Given the description of an element on the screen output the (x, y) to click on. 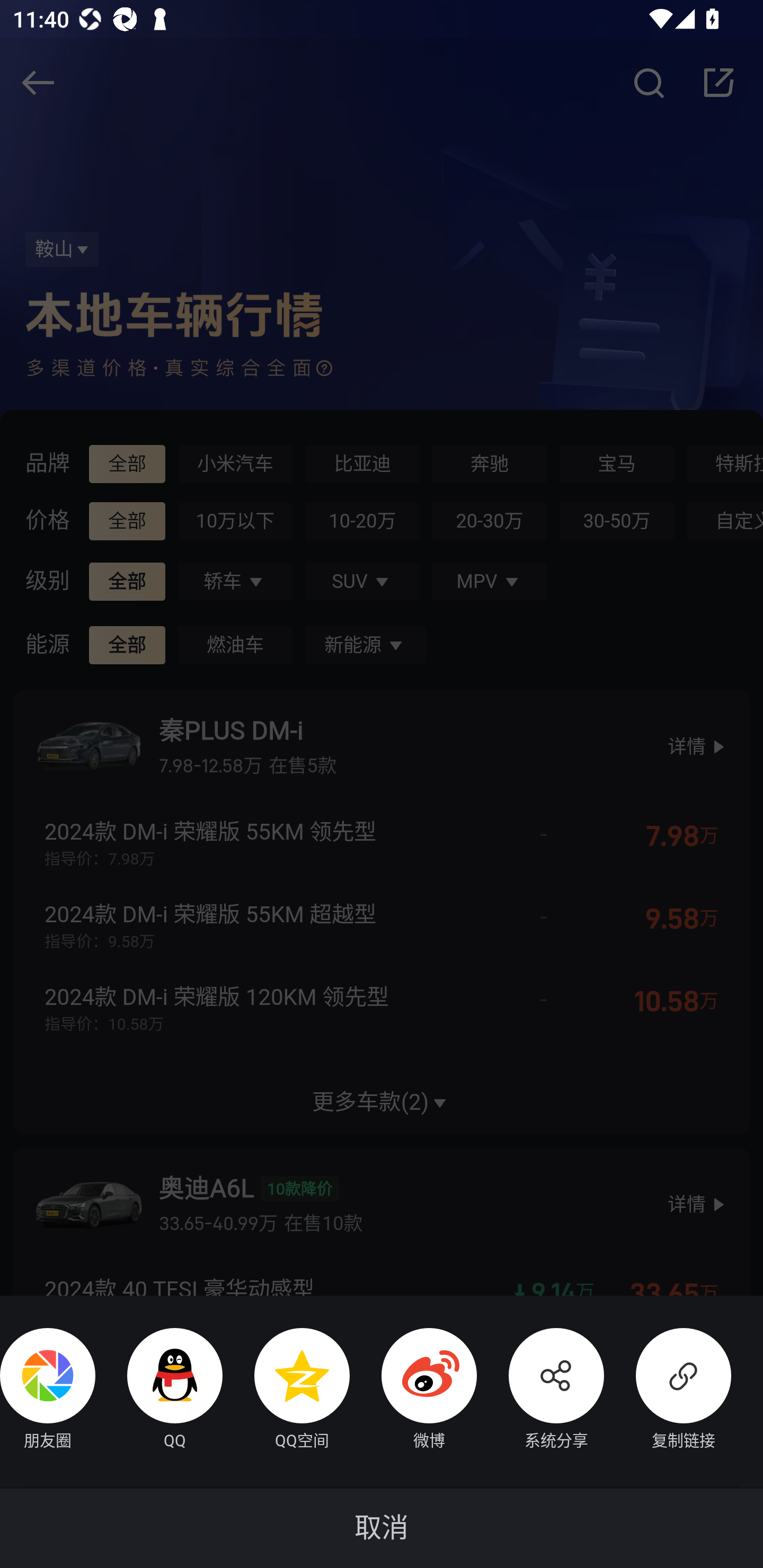
朋友圈 (47, 1390)
QQ (158, 1390)
QQ空间 (285, 1390)
微博 (412, 1390)
系统分享 (540, 1390)
复制链接 (667, 1390)
取消 (381, 1528)
